Given the description of an element on the screen output the (x, y) to click on. 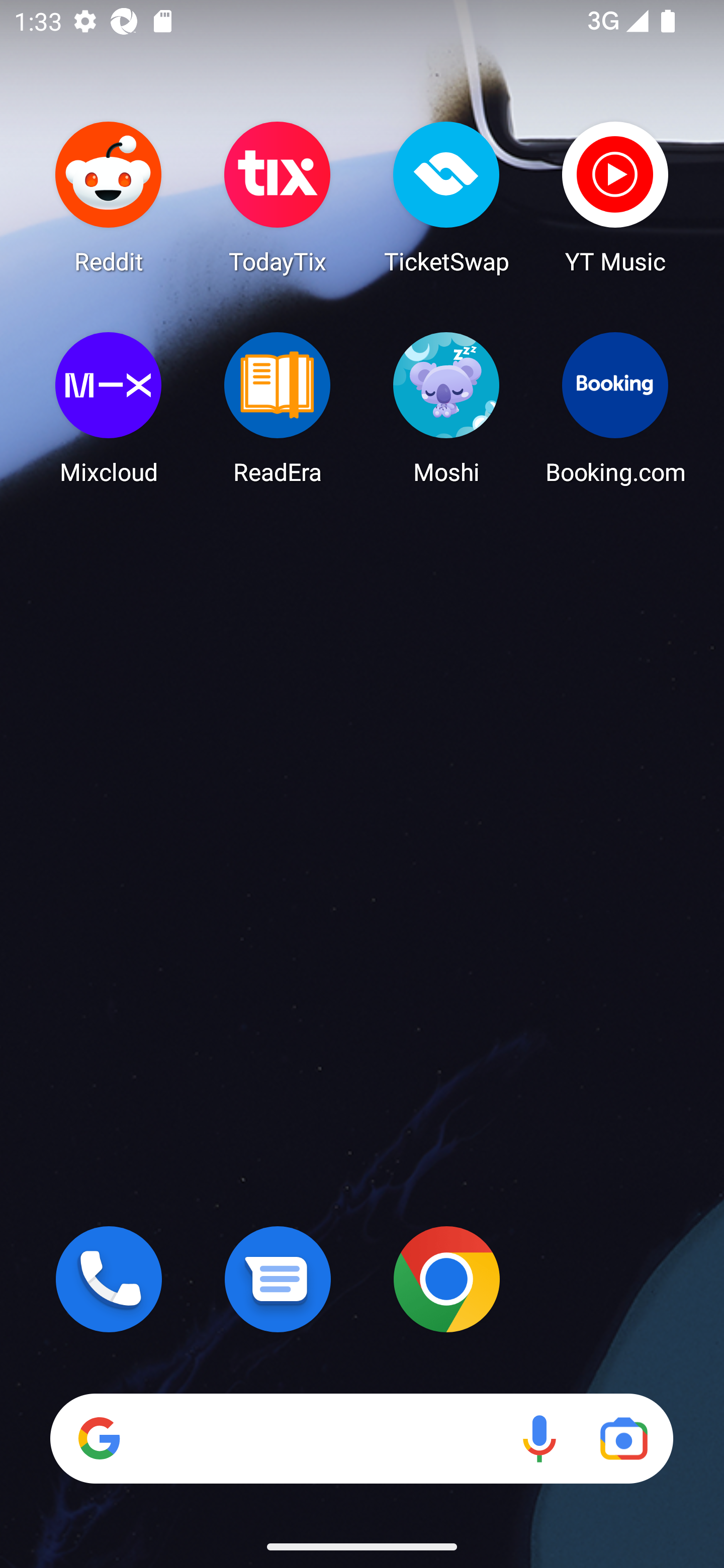
Reddit (108, 196)
TodayTix (277, 196)
TicketSwap (445, 196)
YT Music (615, 196)
Mixcloud (108, 407)
ReadEra (277, 407)
Moshi (445, 407)
Booking.com (615, 407)
Phone (108, 1279)
Messages (277, 1279)
Chrome (446, 1279)
Search Voice search Google Lens (361, 1438)
Voice search (539, 1438)
Google Lens (623, 1438)
